Given the description of an element on the screen output the (x, y) to click on. 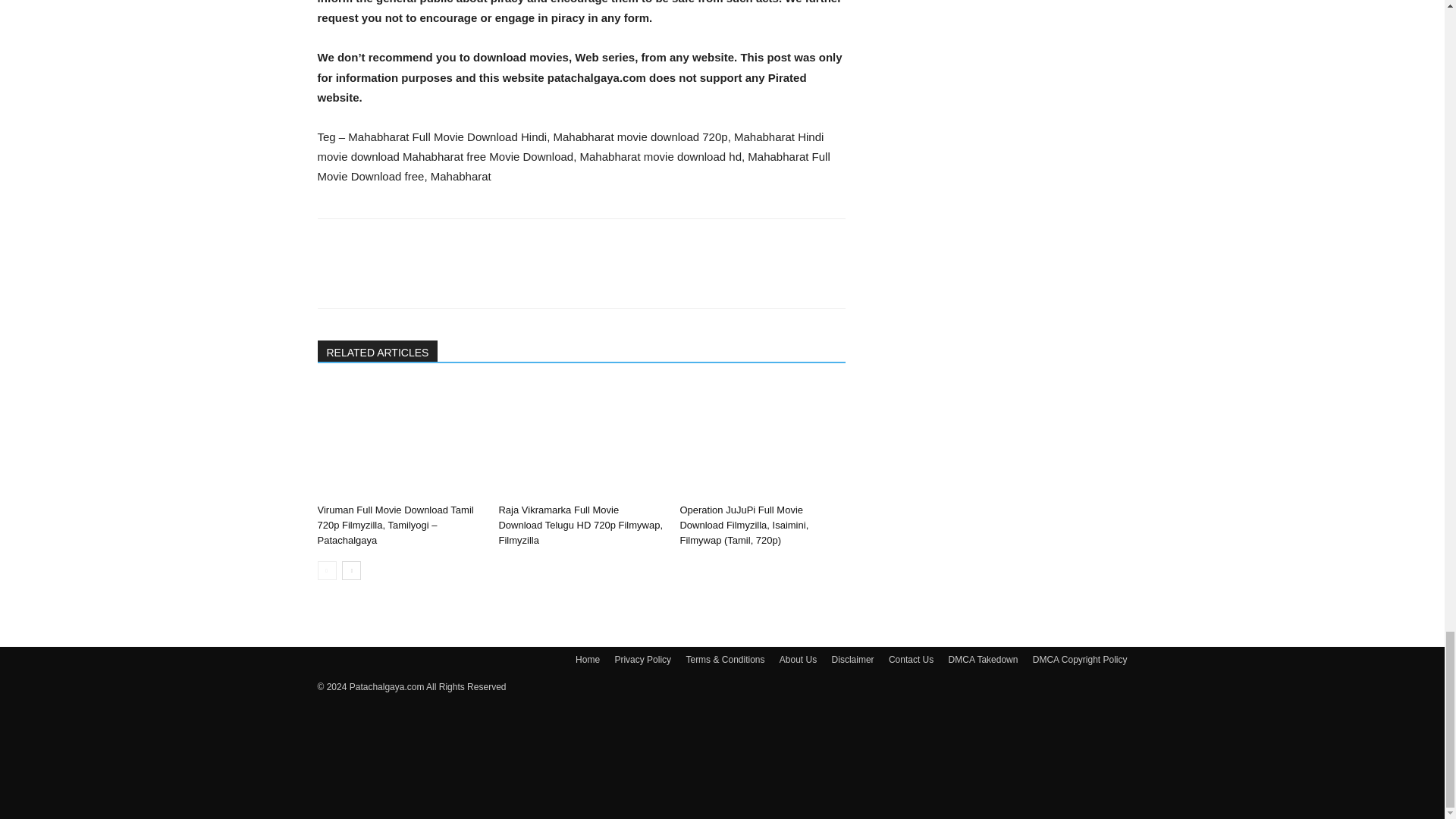
bottomFacebookLike (430, 242)
